Given the description of an element on the screen output the (x, y) to click on. 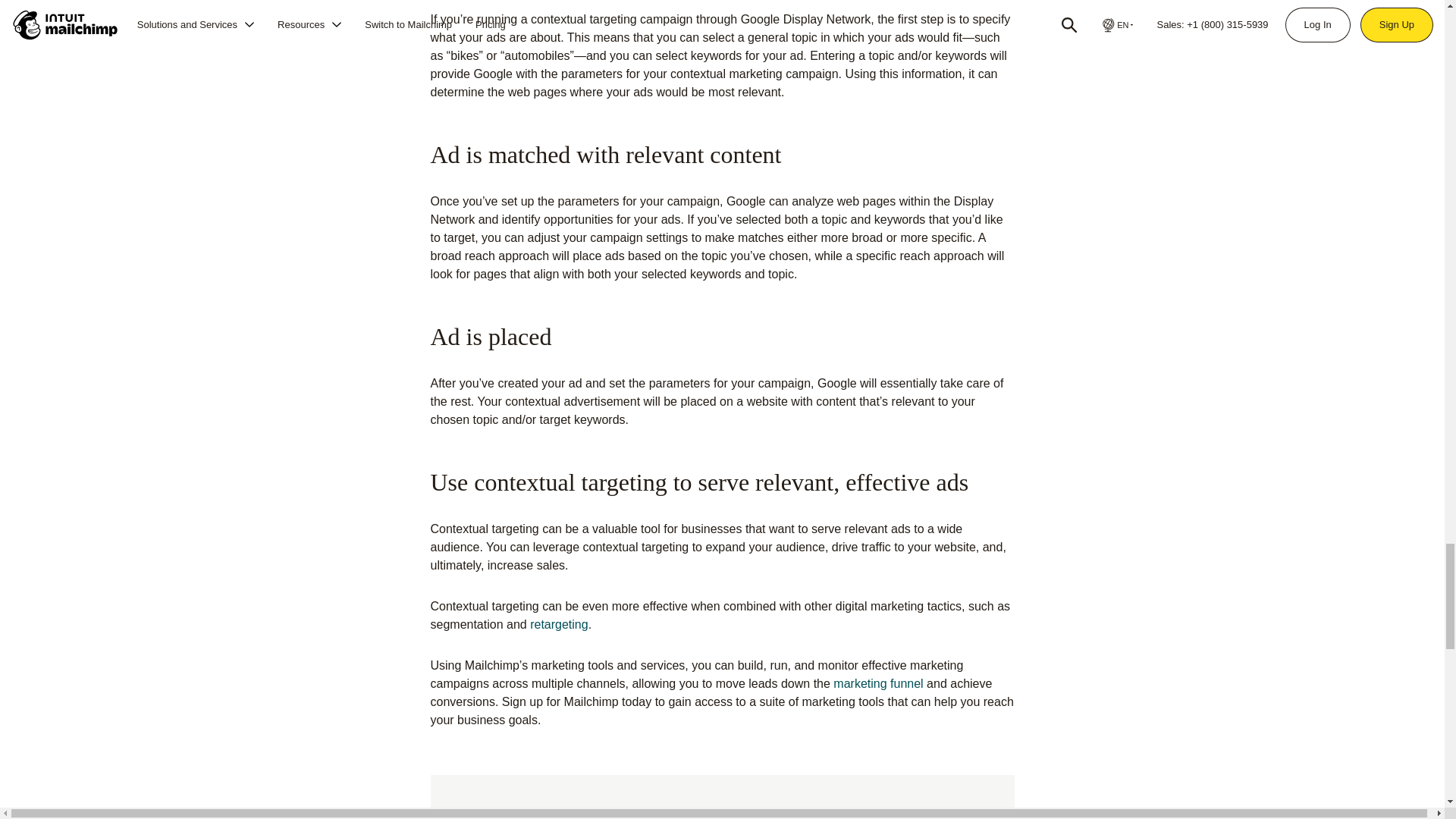
marketing funnel (877, 683)
retargeting (558, 624)
